Given the description of an element on the screen output the (x, y) to click on. 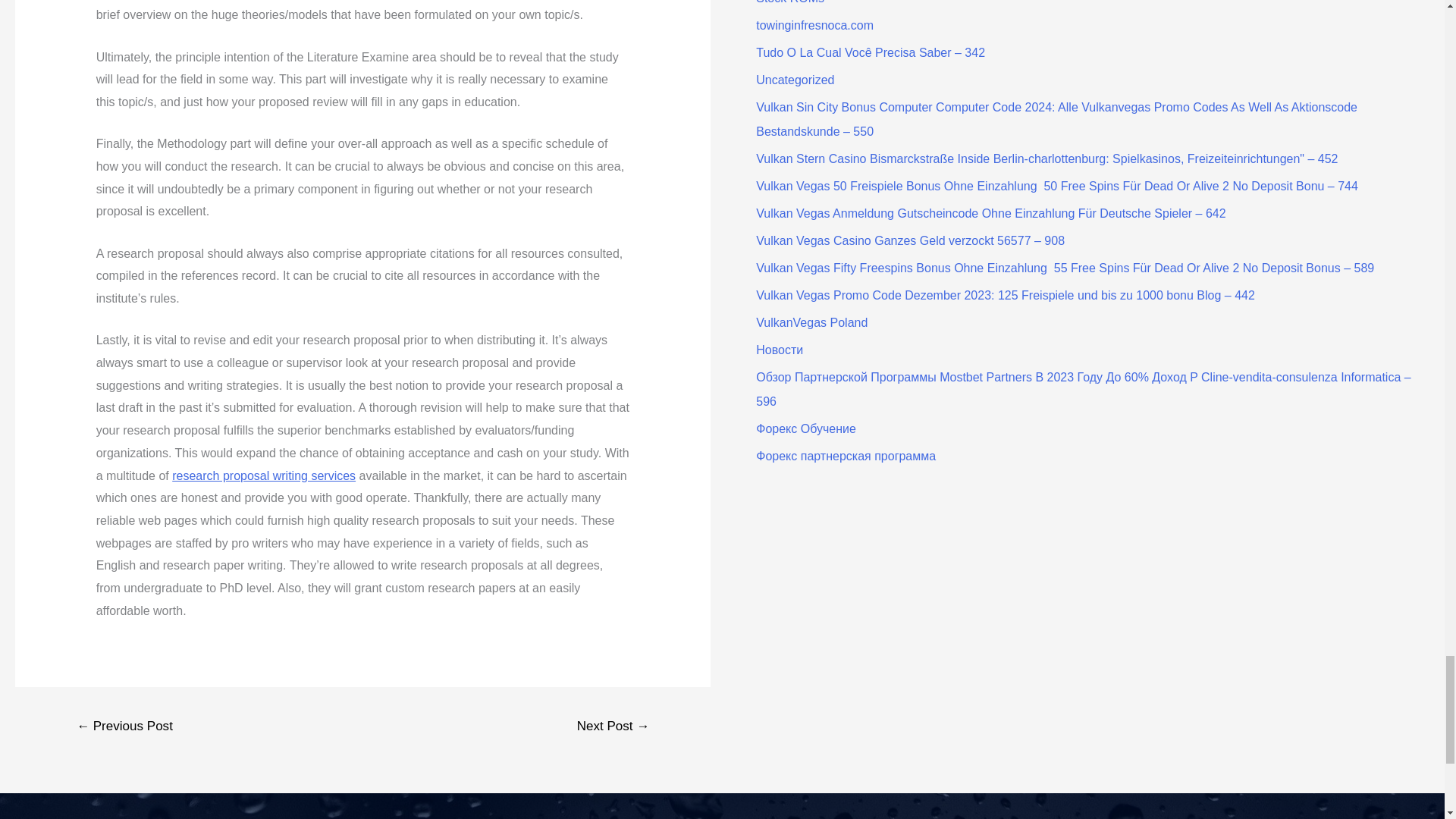
research proposal writing services (263, 475)
